Given the description of an element on the screen output the (x, y) to click on. 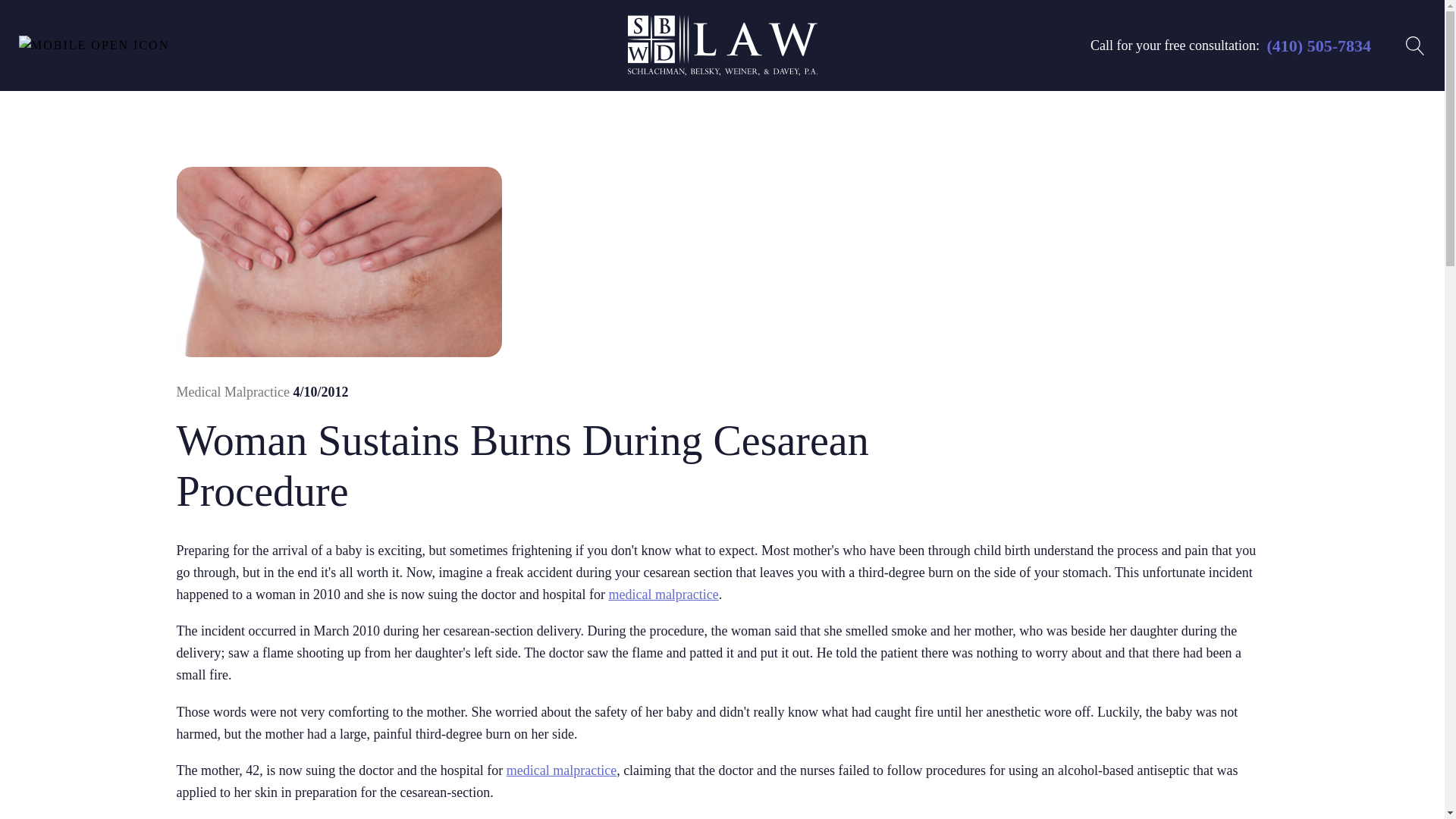
medical malpractice (560, 770)
